Given the description of an element on the screen output the (x, y) to click on. 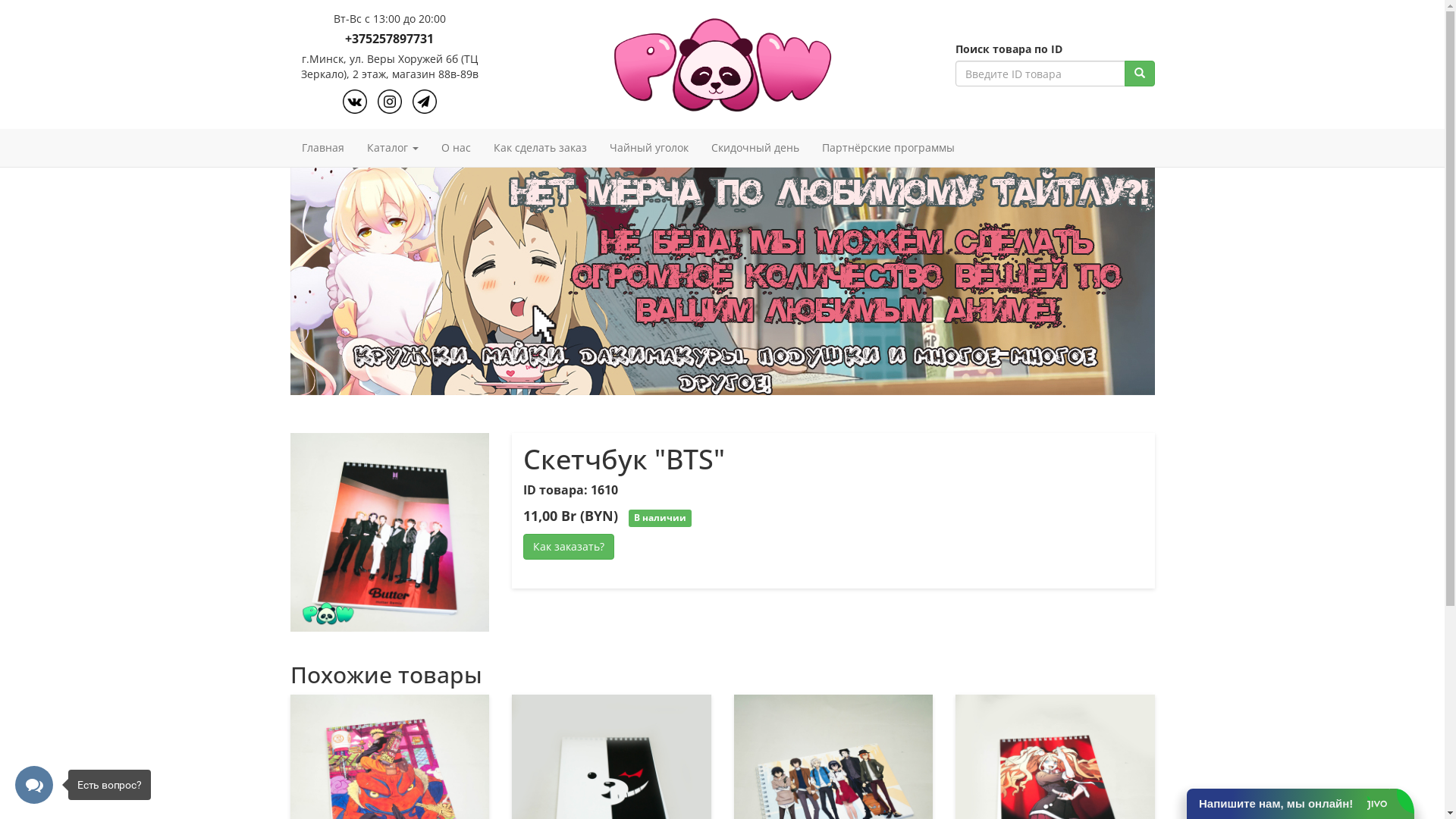
+375257897731 Element type: text (389, 38)
